Given the description of an element on the screen output the (x, y) to click on. 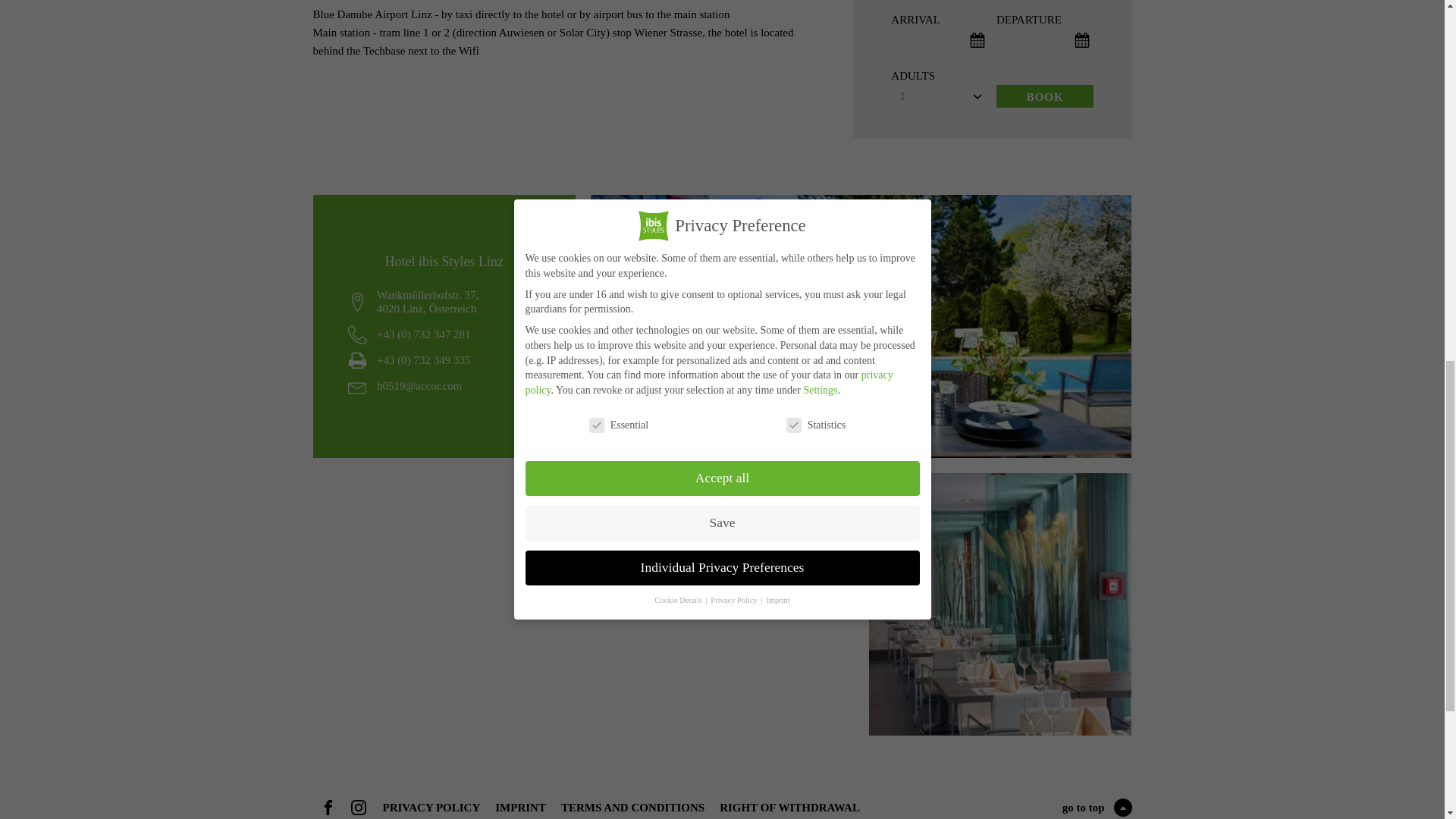
TERMS AND CONDITIONS (632, 807)
PRIVACY POLICY (430, 807)
IMPRINT (520, 807)
go to top (1097, 807)
BOOK (1044, 96)
RIGHT OF WITHDRAWAL (789, 807)
